Given the description of an element on the screen output the (x, y) to click on. 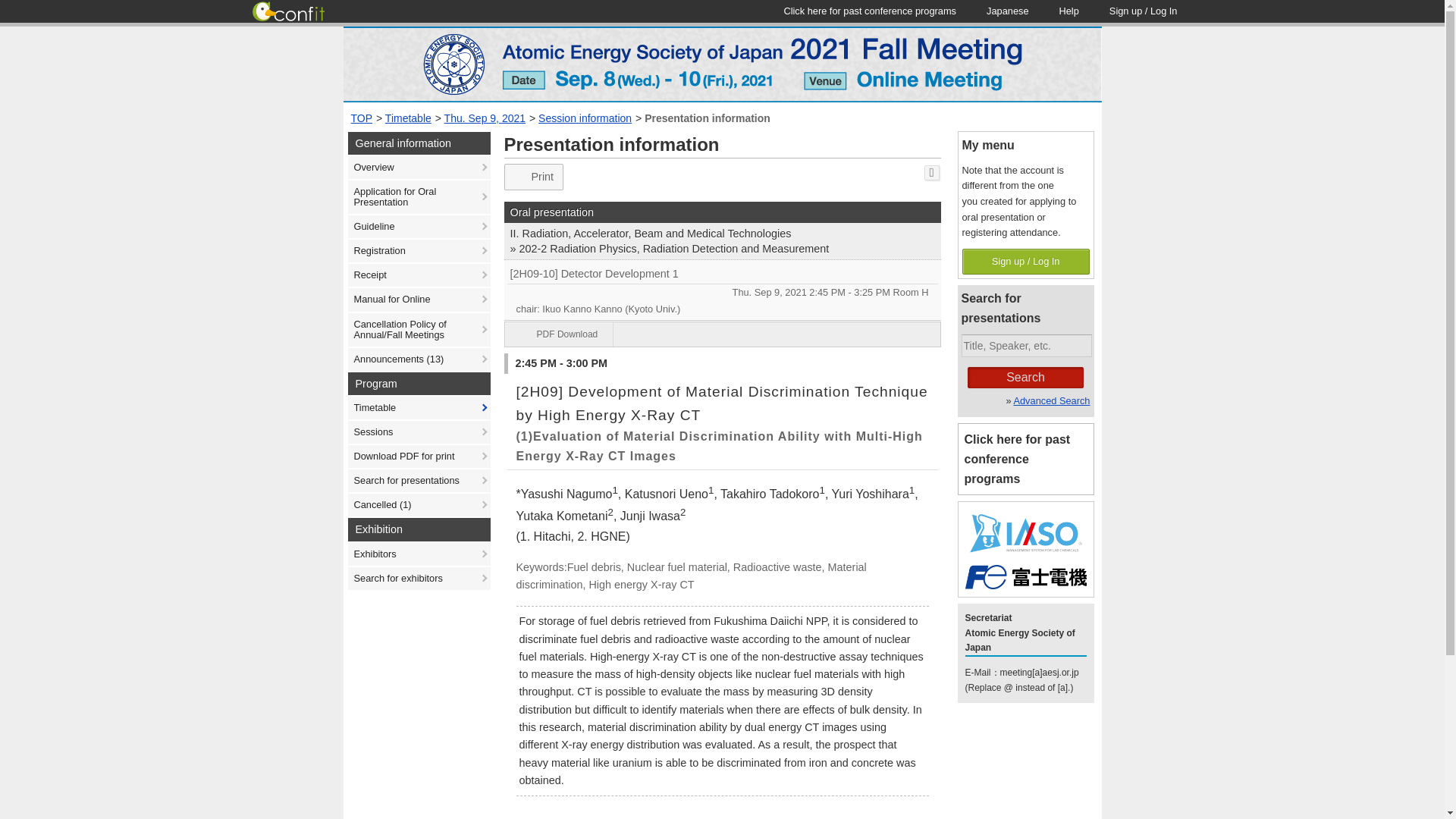
Guideline (418, 226)
Print (533, 176)
Session information (584, 118)
Speaker (721, 504)
Search for presentations (418, 480)
Japanese (1007, 11)
Thu. Sep 9, 2021 (484, 118)
2021 Fall Meeting (721, 64)
Click here for past conference programs (869, 11)
Title (721, 273)
Secondary (668, 248)
PDF Download (559, 334)
Overview (418, 167)
Registration (418, 250)
Chairperson (721, 309)
